Given the description of an element on the screen output the (x, y) to click on. 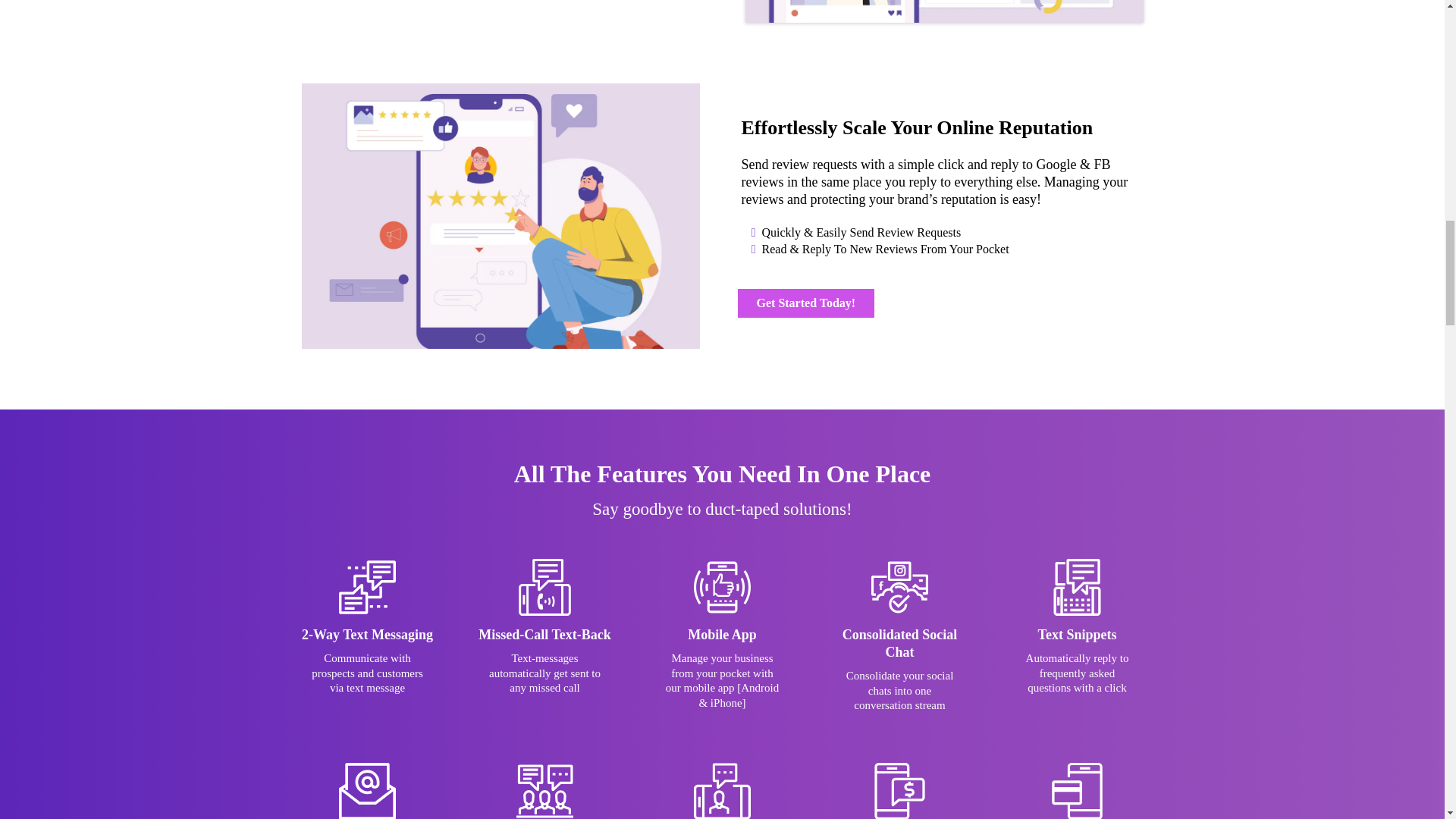
Get Started Today! (805, 303)
